Given the description of an element on the screen output the (x, y) to click on. 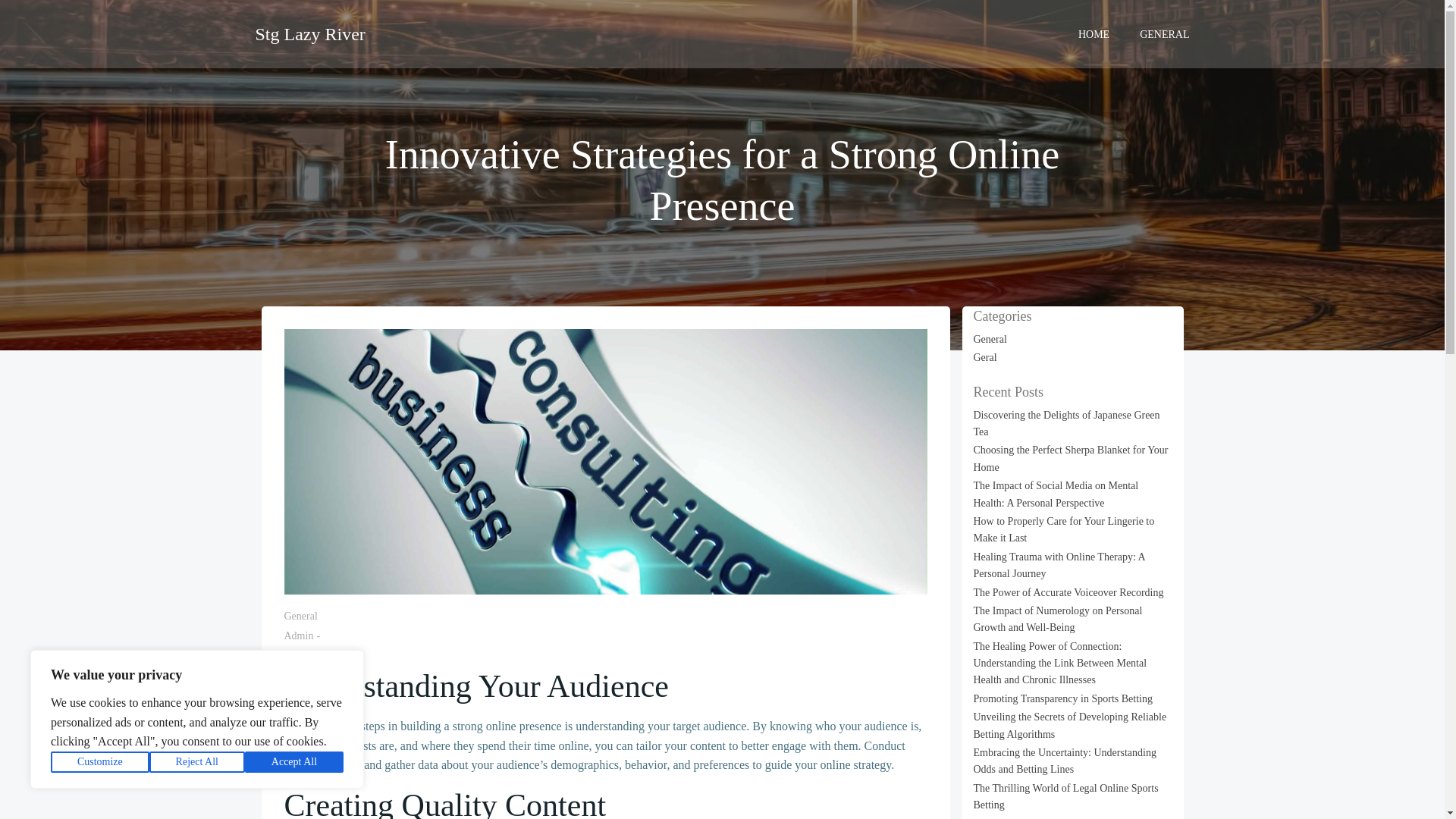
General (990, 338)
Admin (298, 635)
HOME (1093, 33)
Choosing the Perfect Sherpa Blanket for Your Home (1071, 458)
Reject All (196, 762)
Accept All (293, 762)
Customize (99, 762)
How to Properly Care for Your Lingerie to Make it Last (1064, 529)
General (300, 616)
GENERAL (1164, 33)
Discovering the Delights of Japanese Green Tea (1067, 423)
Stg Lazy River (309, 33)
Geral (985, 357)
